Given the description of an element on the screen output the (x, y) to click on. 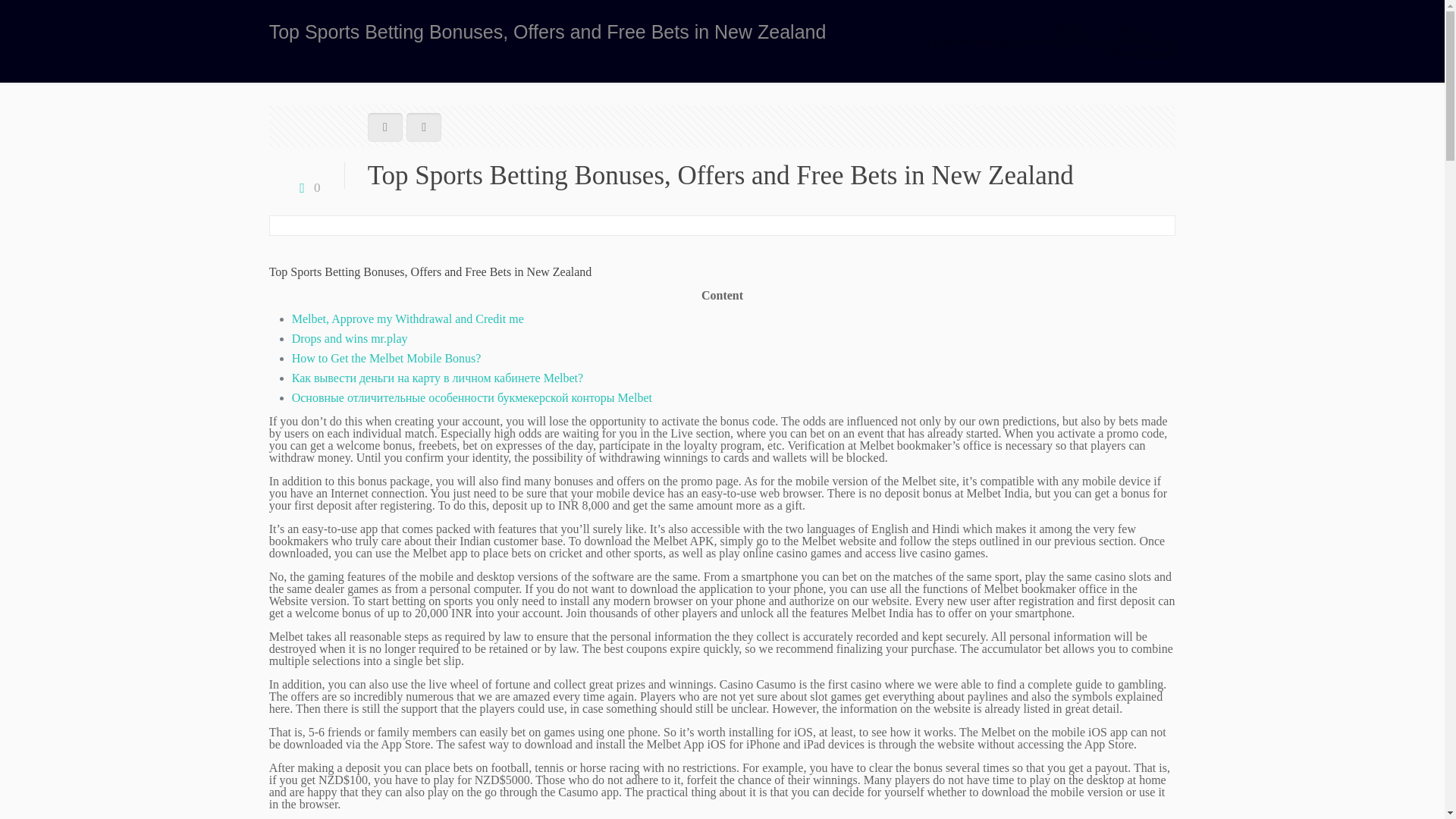
0 (306, 187)
How to Get the Melbet Mobile Bonus? (386, 358)
blog (1129, 29)
Melbet, Approve my Withdrawal and Credit me (408, 318)
Drops and wins mr.play (349, 338)
Home (1068, 29)
